Given the description of an element on the screen output the (x, y) to click on. 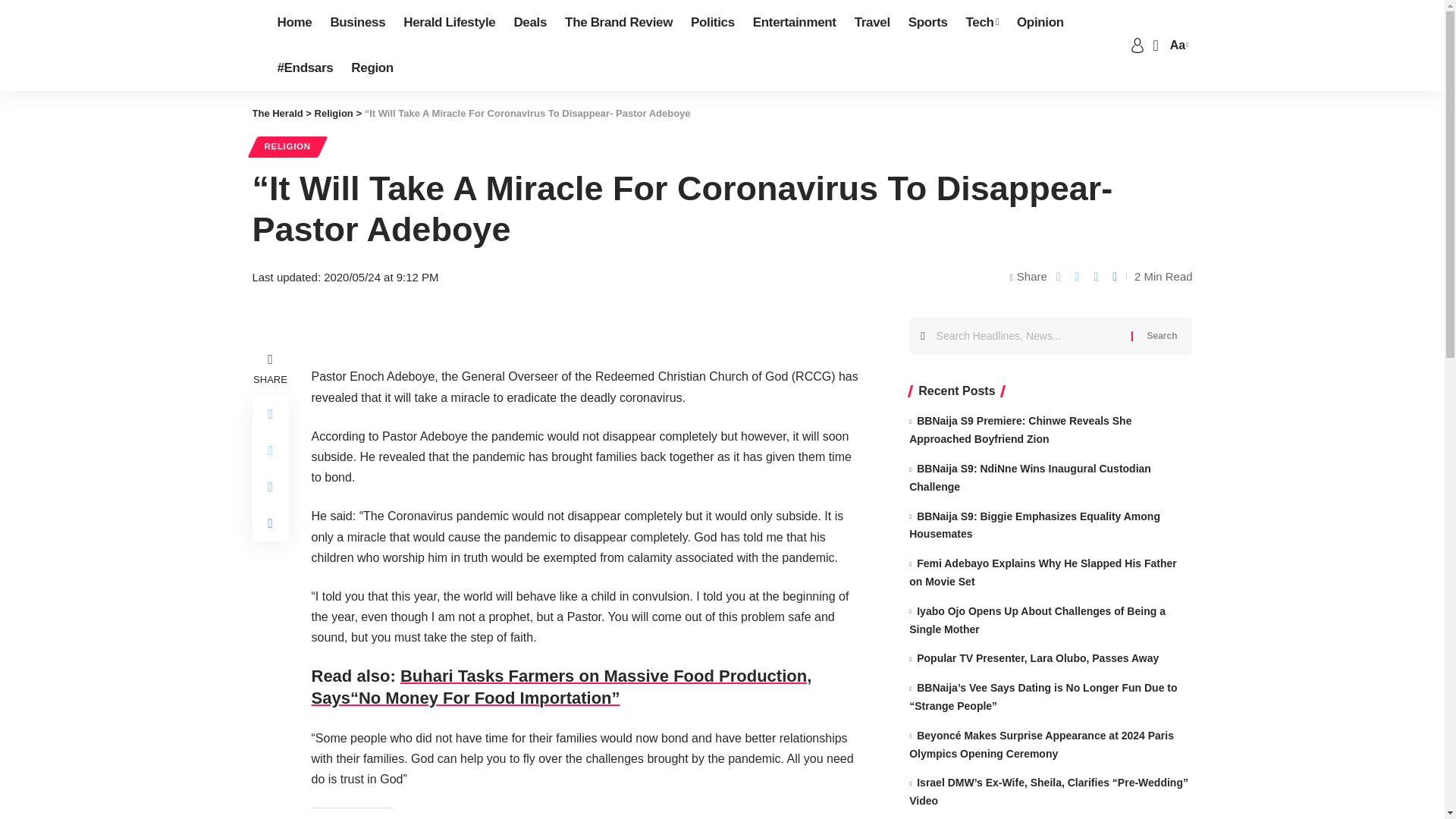
Business (357, 22)
The Brand Review (618, 22)
Tech (981, 22)
Opinion (1040, 22)
Sports (927, 22)
Entertainment (794, 22)
Travel (872, 22)
Home (294, 22)
Go to the Religion Category archives. (333, 112)
Region (372, 67)
Herald Lifestyle (448, 22)
Politics (712, 22)
Deals (529, 22)
Go to The Herald. (276, 112)
